Given the description of an element on the screen output the (x, y) to click on. 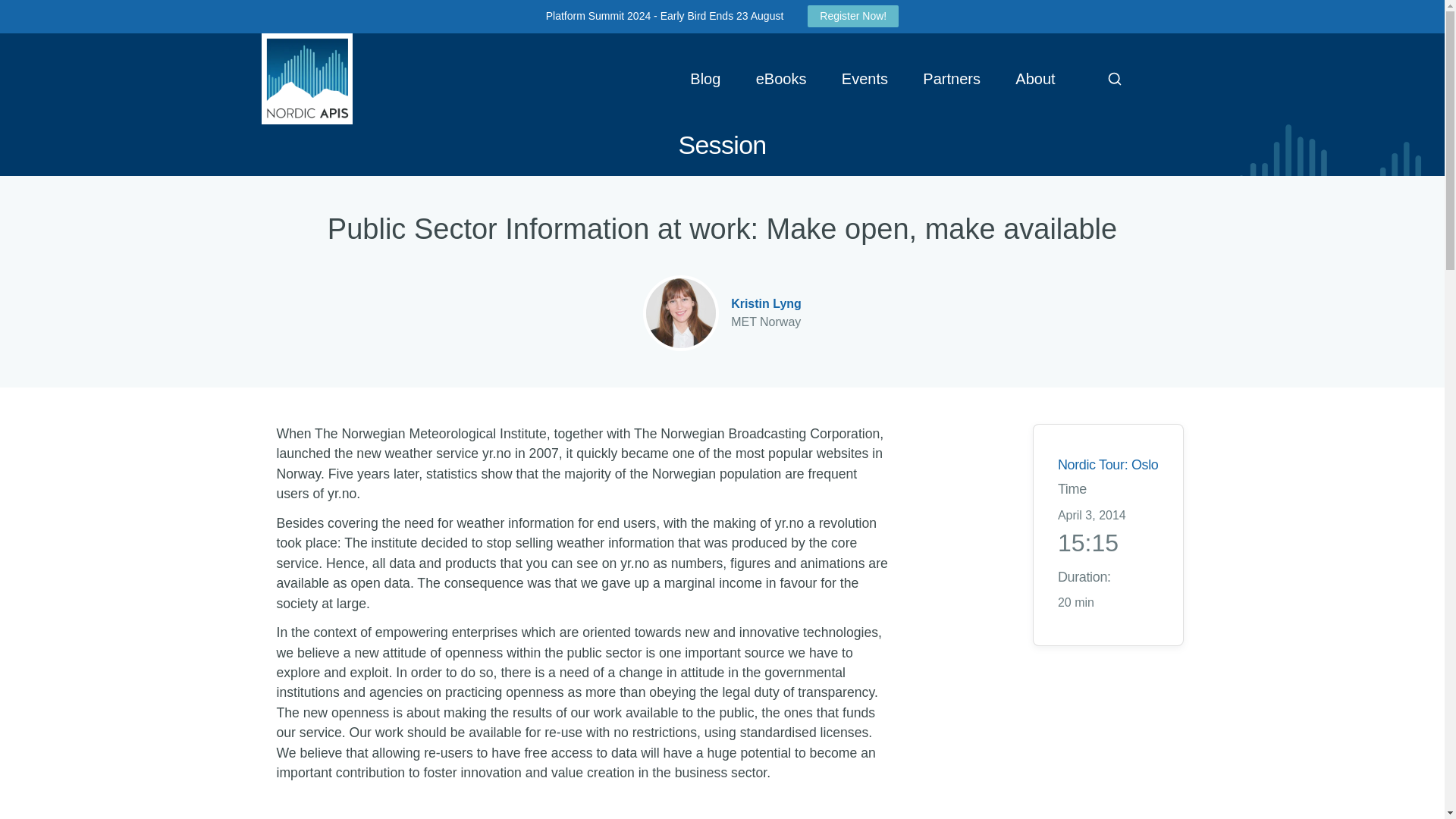
About (1035, 78)
Search (1114, 78)
Events (864, 78)
Register Now! (853, 15)
eBooks (781, 78)
Partners (951, 78)
Blog (705, 78)
